Given the description of an element on the screen output the (x, y) to click on. 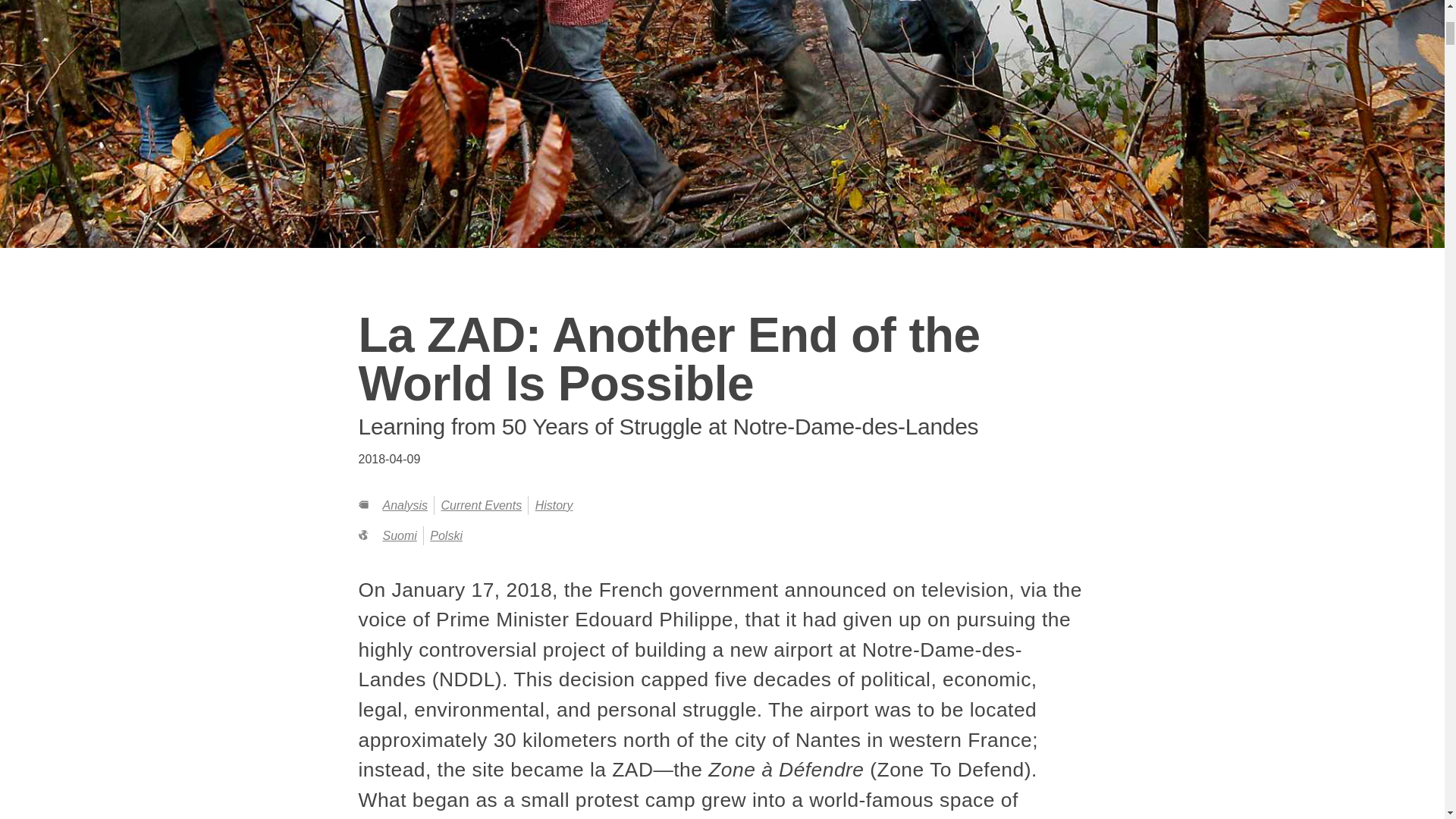
Suomi (398, 535)
History (554, 504)
Current Events (481, 504)
Polski (446, 535)
Analysis (404, 504)
